Given the description of an element on the screen output the (x, y) to click on. 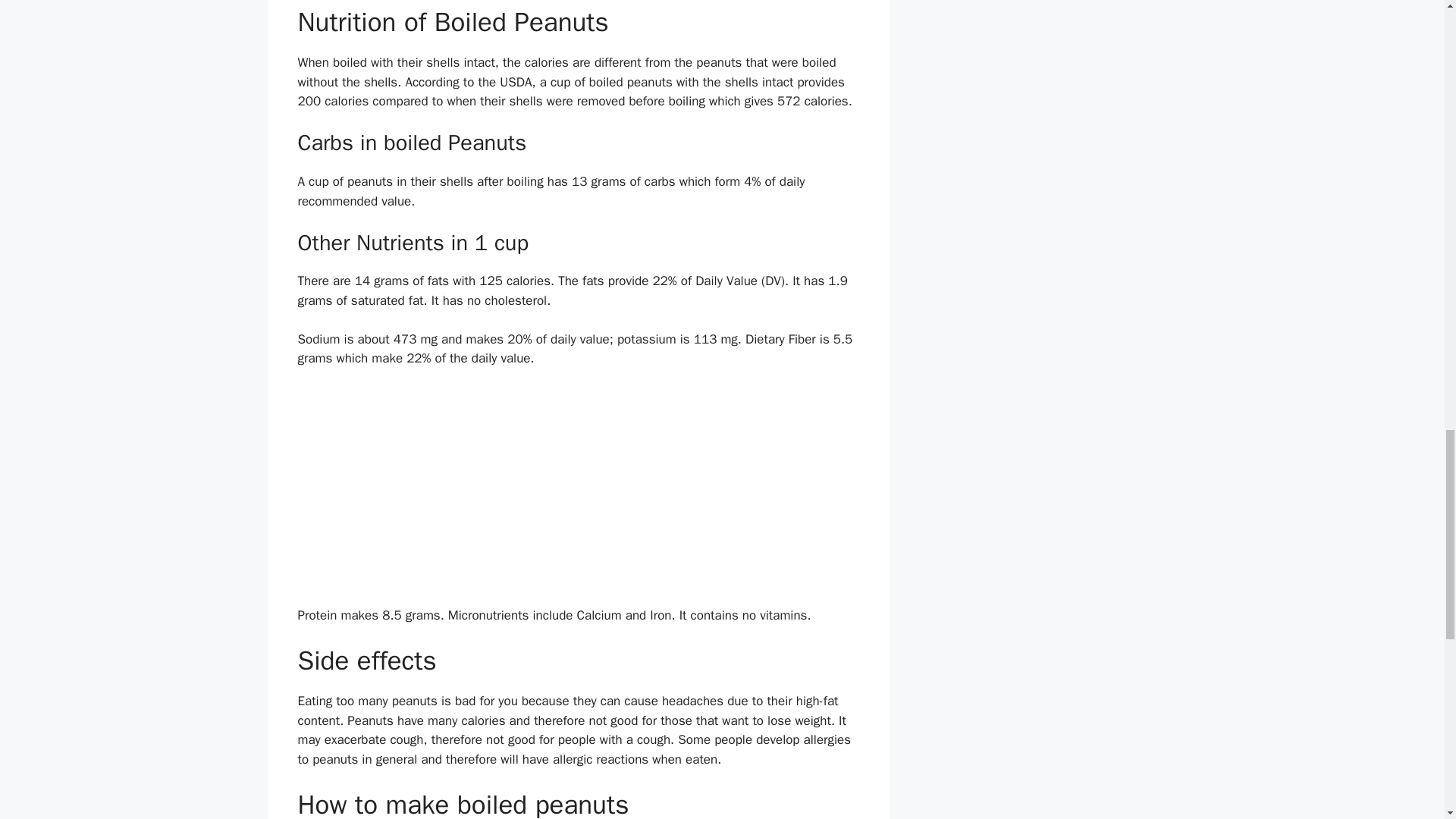
Advertisement (578, 493)
